Given the description of an element on the screen output the (x, y) to click on. 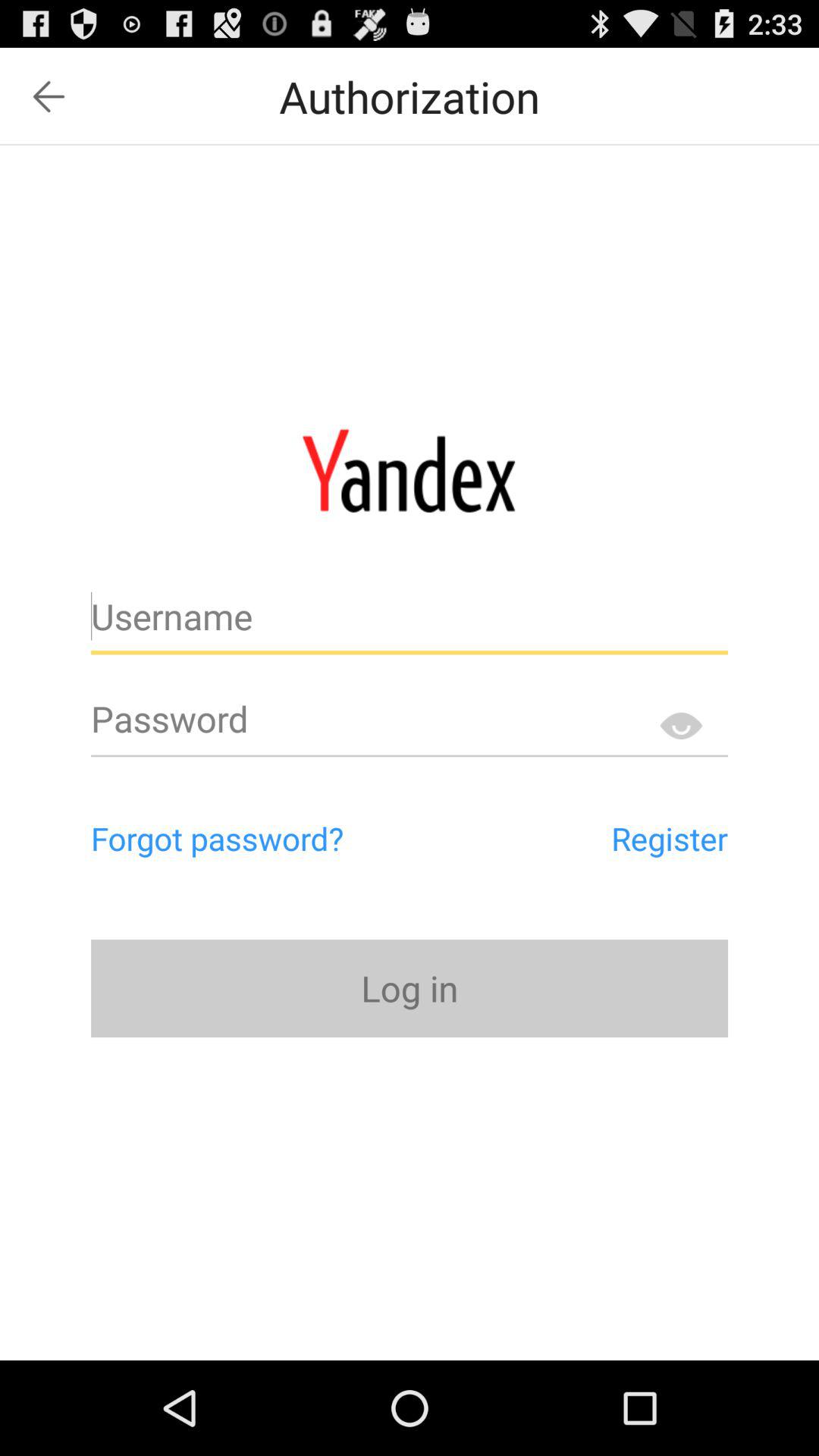
toggle hide password option (680, 725)
